Given the description of an element on the screen output the (x, y) to click on. 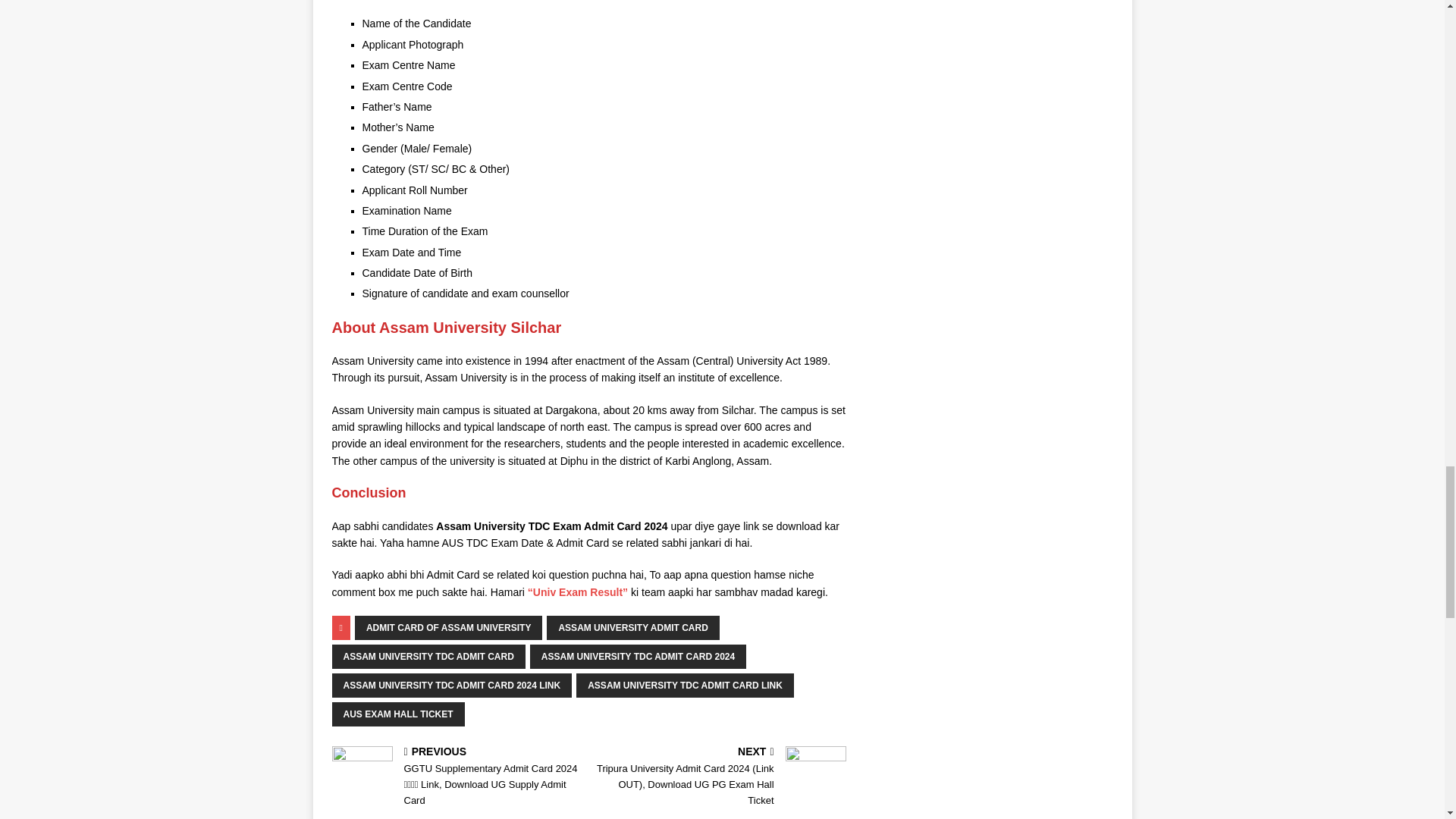
ASSAM UNIVERSITY TDC ADMIT CARD LINK (684, 685)
AUS EXAM HALL TICKET (397, 713)
ASSAM UNIVERSITY TDC ADMIT CARD 2024 LINK (451, 685)
ASSAM UNIVERSITY TDC ADMIT CARD (428, 656)
ASSAM UNIVERSITY TDC ADMIT CARD 2024 (637, 656)
ASSAM UNIVERSITY ADMIT CARD (633, 627)
ADMIT CARD OF ASSAM UNIVERSITY (449, 627)
